Given the description of an element on the screen output the (x, y) to click on. 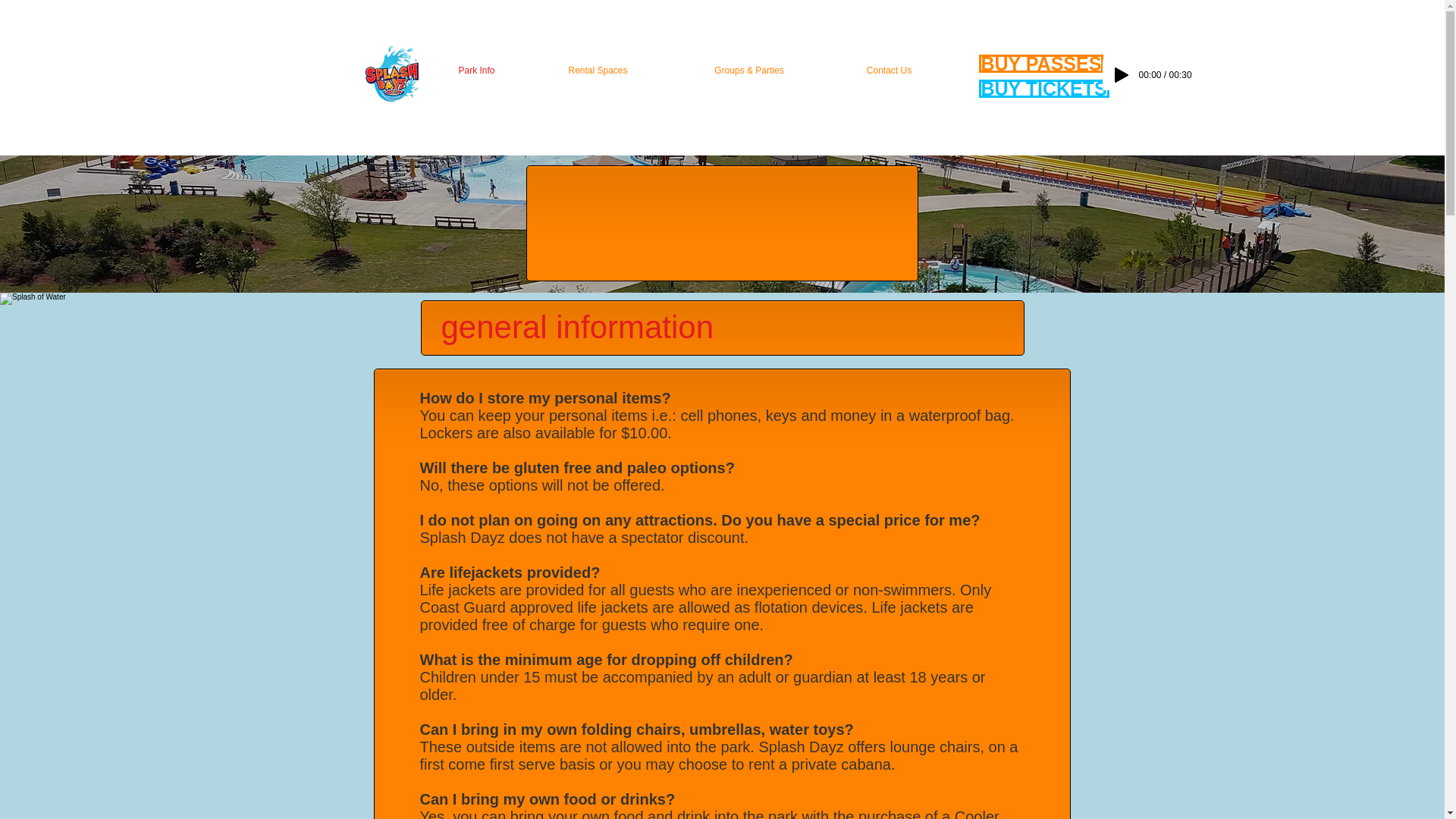
Park Info (476, 70)
Contact Us (889, 70)
Rental Spaces (596, 70)
BUY PASSES (1040, 63)
